Given the description of an element on the screen output the (x, y) to click on. 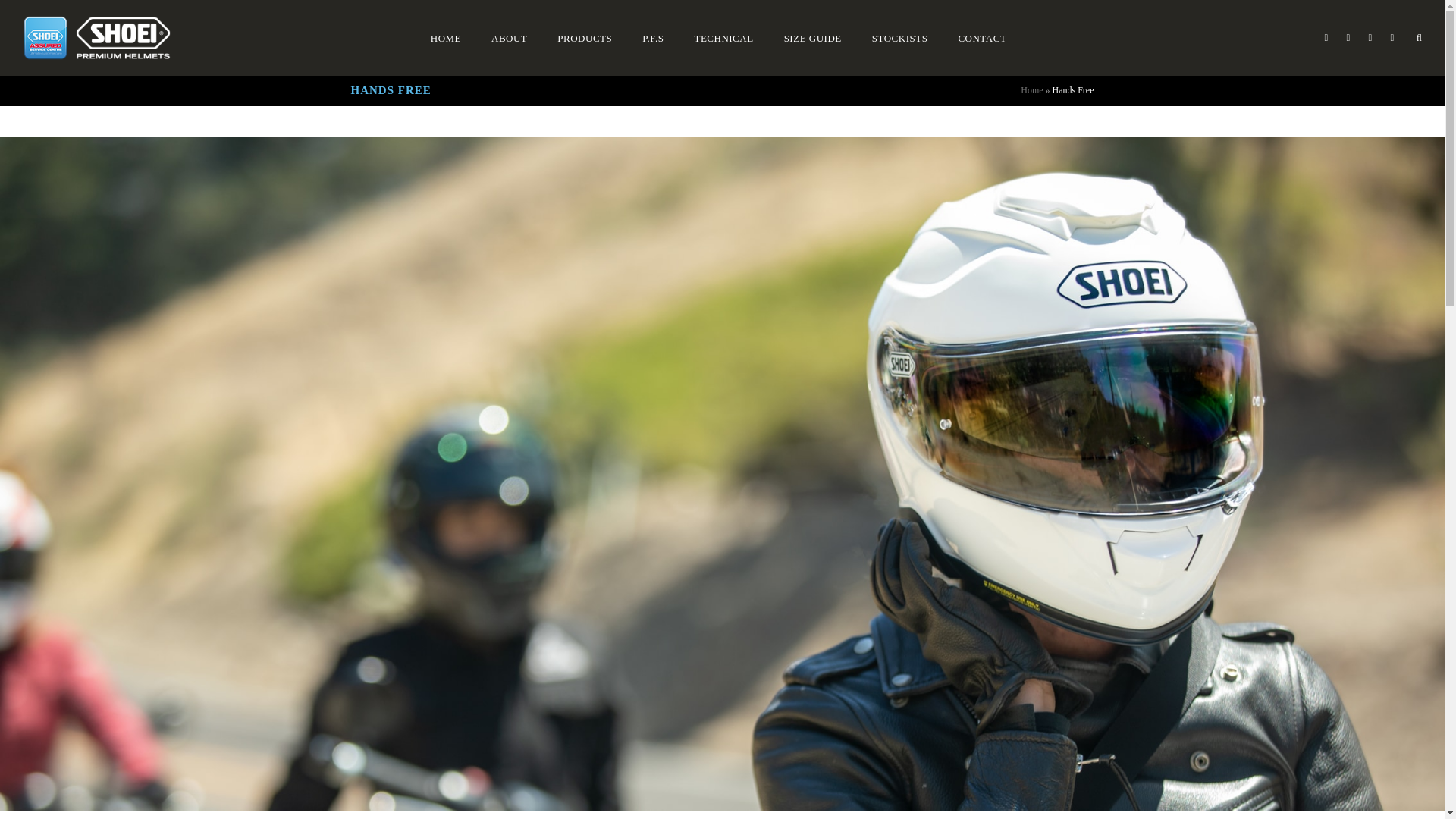
HOME (445, 37)
ABOUT (509, 37)
Twitter (1326, 37)
YouTube (1369, 37)
CONTACT (981, 37)
PRODUCTS (584, 37)
Instagram (1391, 37)
Facebook (1347, 37)
Instagram (1391, 37)
TECHNICAL (723, 37)
P.F.S (652, 37)
STOCKISTS (899, 37)
Facebook (1347, 37)
YouTube (1369, 37)
SIZE GUIDE (813, 37)
